Given the description of an element on the screen output the (x, y) to click on. 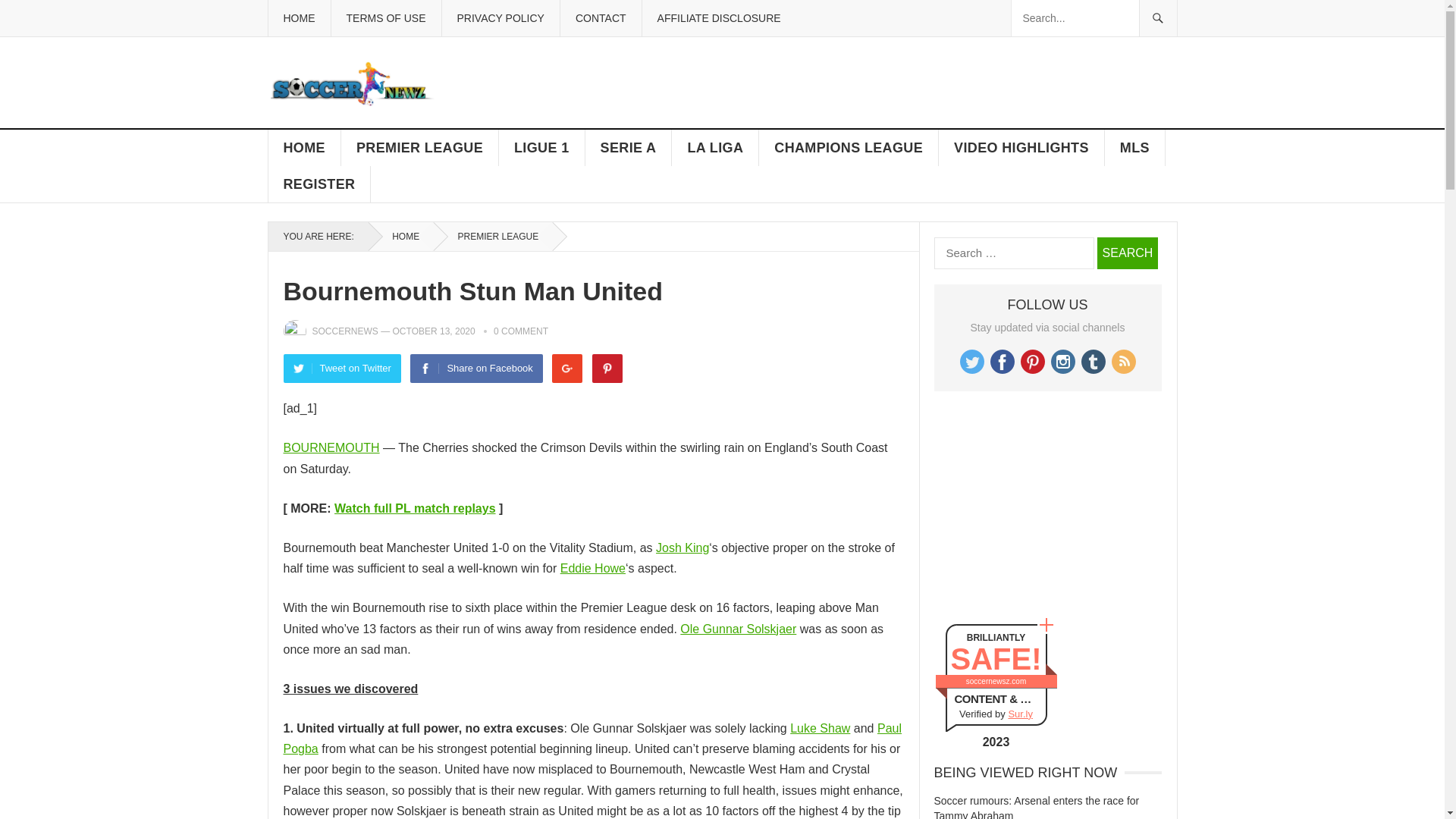
Search (1127, 253)
SOCCERNEWS (345, 330)
HOME (303, 147)
REGISTER (319, 184)
Tweet on Twitter (342, 368)
PREMIER LEAGUE (493, 235)
LA LIGA (714, 147)
PREMIER LEAGUE (419, 147)
MLS (1135, 147)
HOME (400, 235)
HOME (298, 18)
CHAMPIONS LEAGUE (848, 147)
View all posts in Premier League (493, 235)
PRIVACY POLICY (500, 18)
VIDEO HIGHLIGHTS (1022, 147)
